Given the description of an element on the screen output the (x, y) to click on. 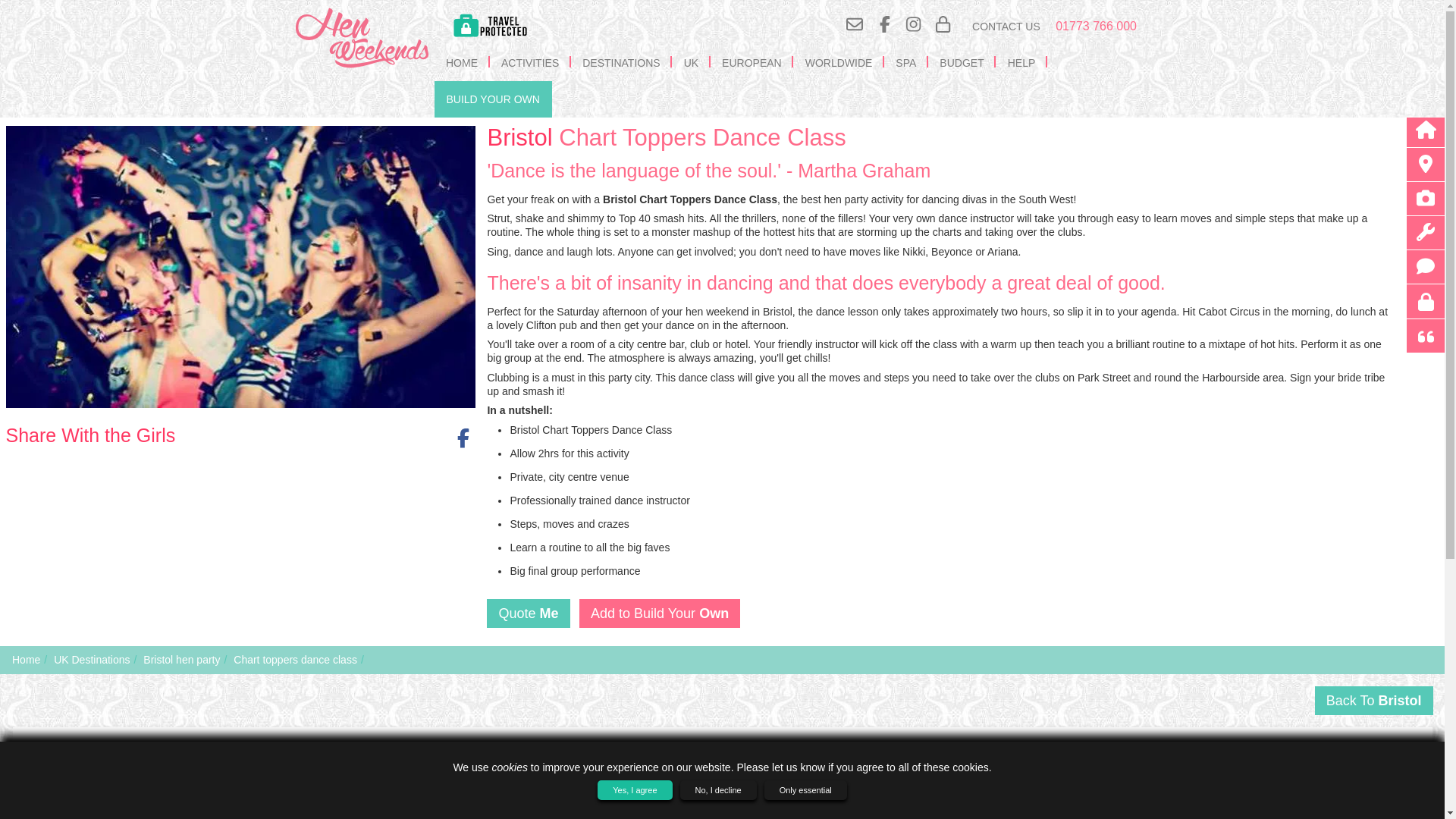
01773 766 000 (1096, 26)
CONTACT US (1006, 26)
HOME (461, 63)
ACTIVITIES (529, 63)
DESTINATIONS (620, 63)
